Given the description of an element on the screen output the (x, y) to click on. 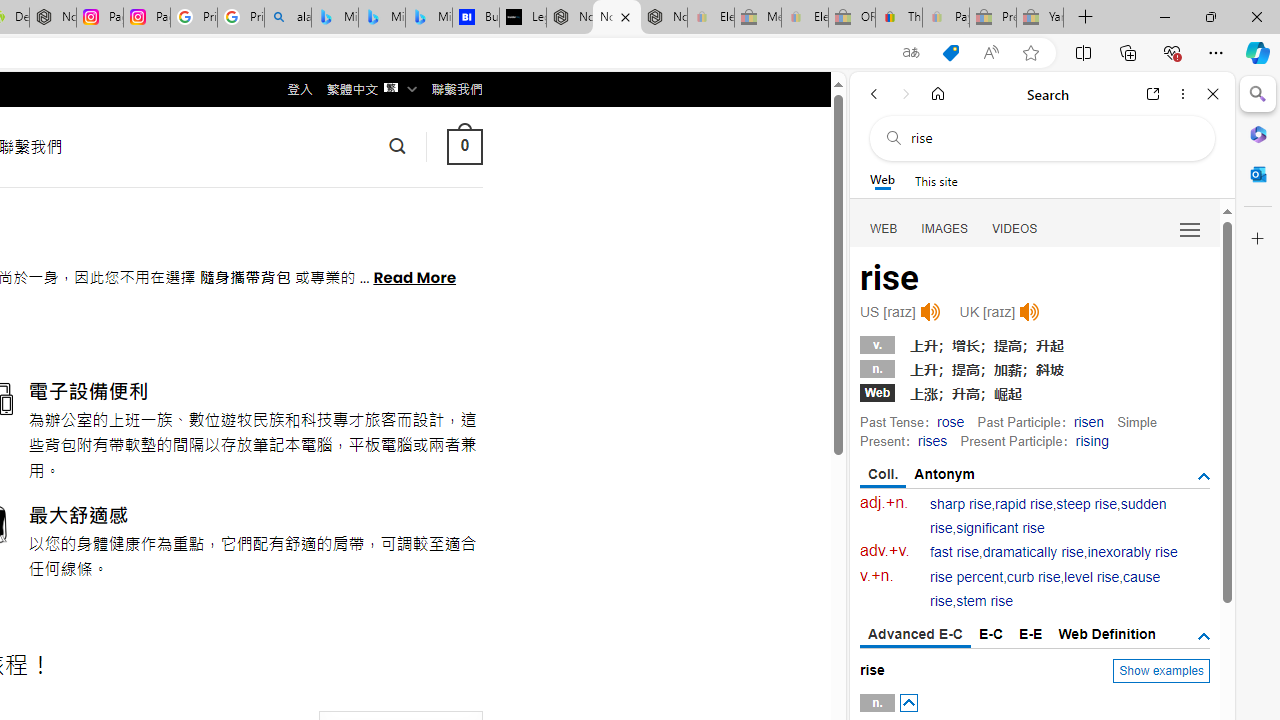
Class: b_serphb (1190, 229)
rise percent (966, 577)
rapid rise (1023, 503)
rose (950, 421)
AutomationID: tgdef (1203, 636)
This site scope (936, 180)
risen (1088, 421)
Payments Terms of Use | eBay.com - Sleeping (945, 17)
Forward (906, 93)
steep rise (1086, 503)
